Given the description of an element on the screen output the (x, y) to click on. 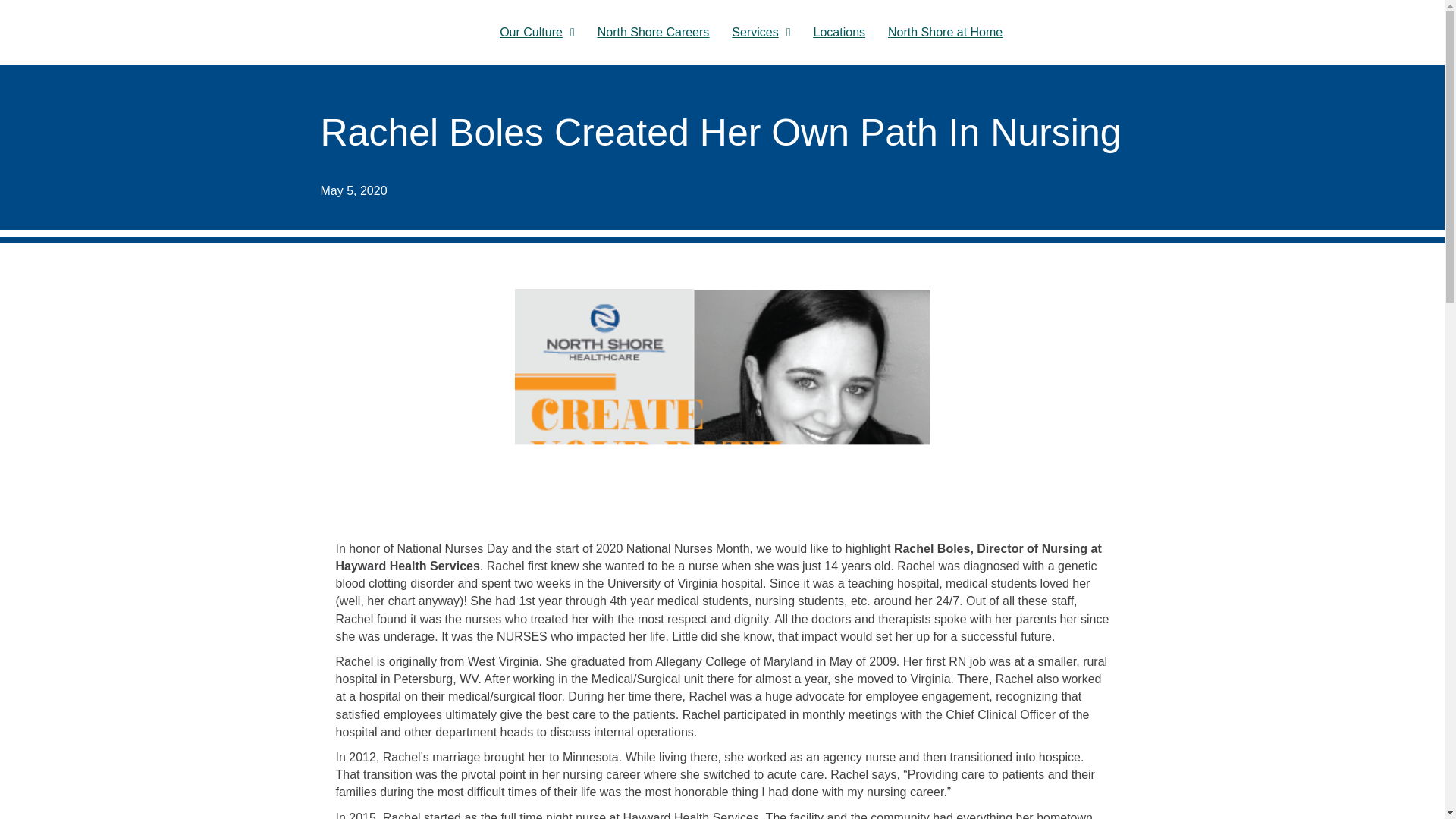
Our Culture (537, 31)
North Shore at Home (945, 31)
Locations (839, 31)
Services (760, 31)
North Shore Careers (653, 31)
